Given the description of an element on the screen output the (x, y) to click on. 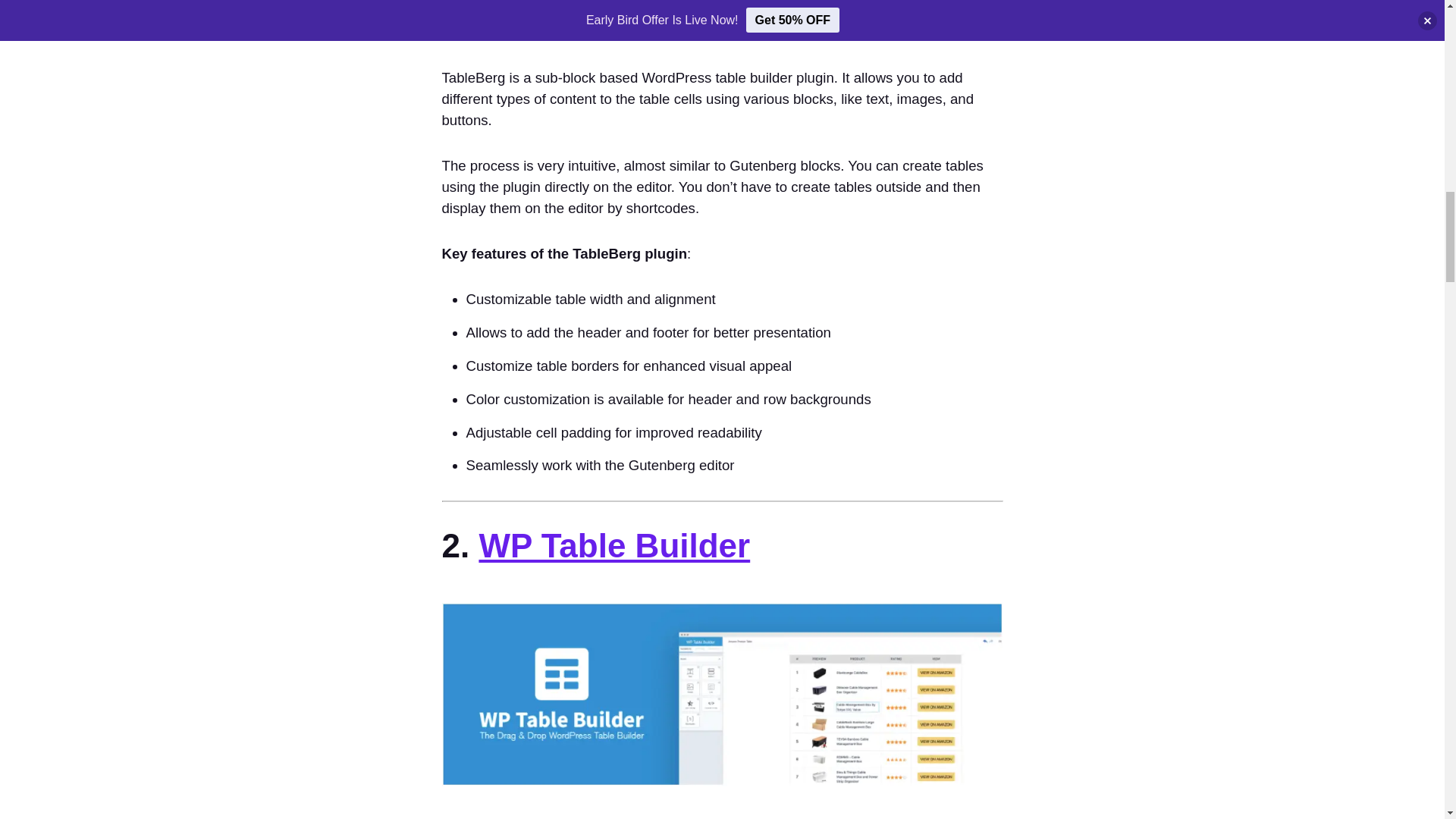
WP Table Builder (614, 545)
